Given the description of an element on the screen output the (x, y) to click on. 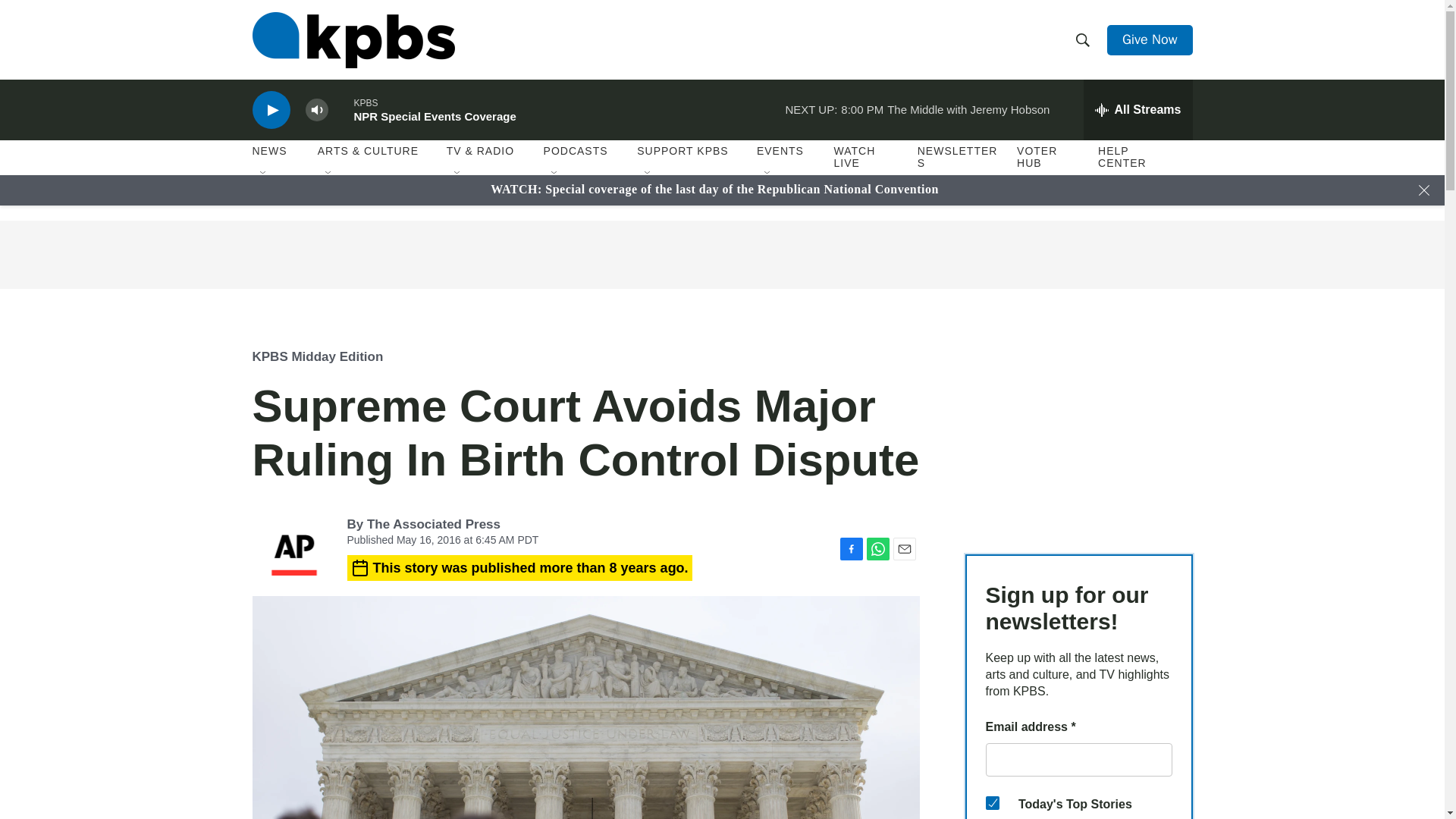
3rd party ad content (721, 254)
4 (991, 802)
3rd party ad content (1077, 429)
